Given the description of an element on the screen output the (x, y) to click on. 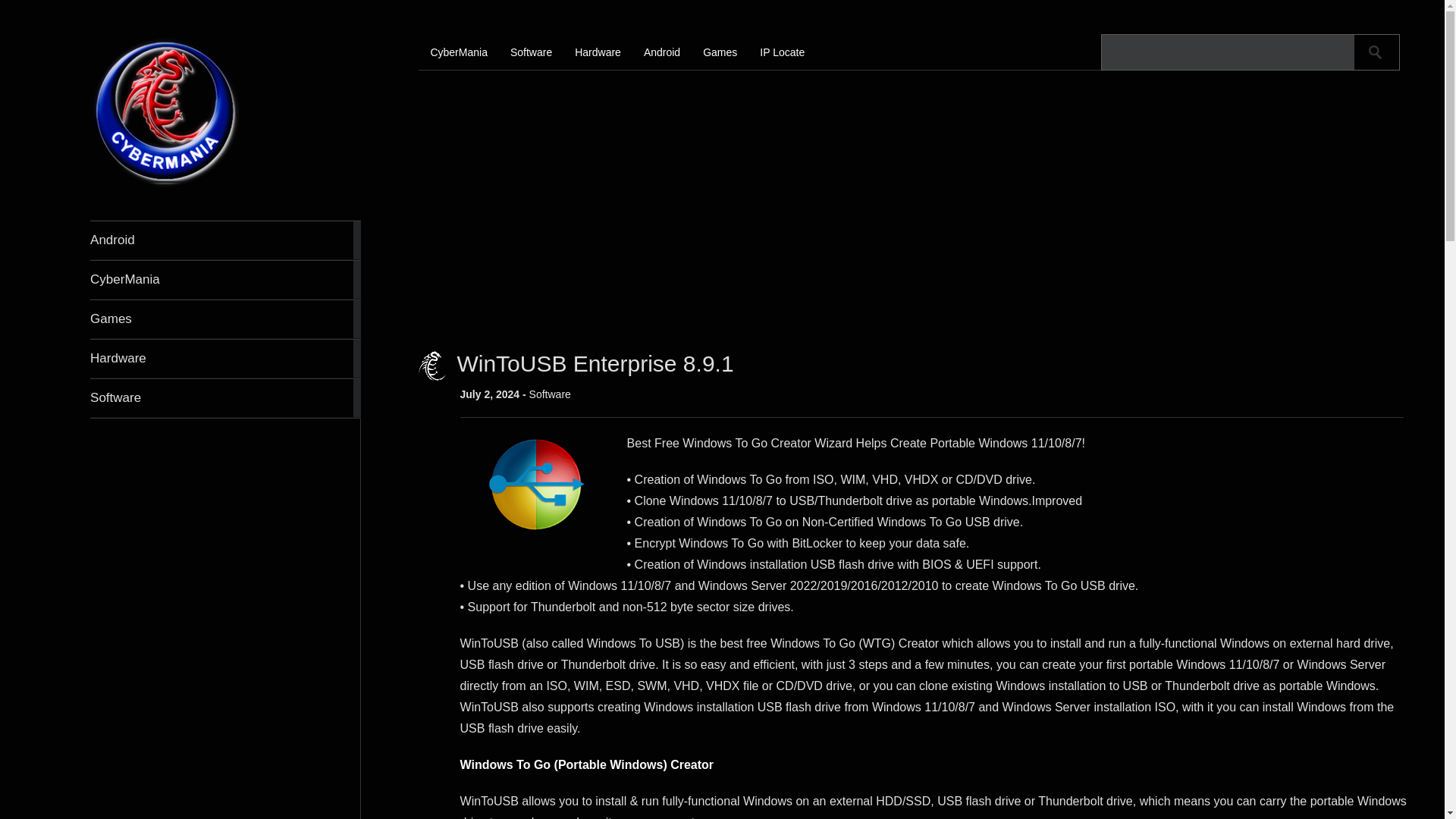
Advertisement (224, 758)
Search for: (1228, 52)
Games (225, 319)
Hardware (225, 358)
CyberMania (225, 279)
Hardware (609, 52)
Hardware (225, 358)
IP Locate (793, 52)
CyberMania (165, 184)
Software (542, 52)
Android (225, 240)
Games (225, 319)
Software (225, 397)
